Given the description of an element on the screen output the (x, y) to click on. 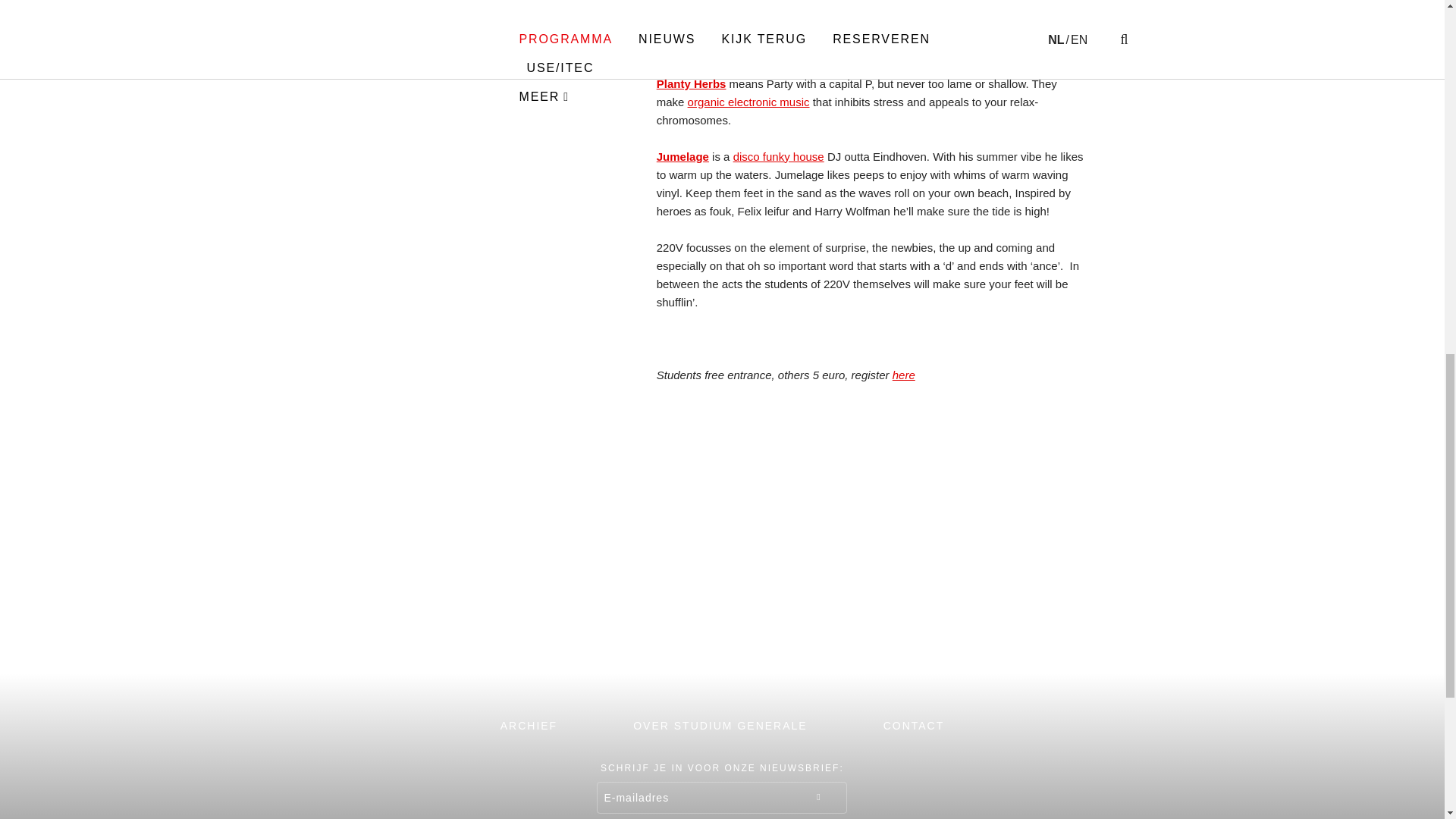
Planty Herbs (691, 83)
disco funky house (778, 155)
PROGRAMMA (369, 664)
OVER STUDIUM GENERALE (719, 725)
NIEUWS (545, 664)
here (903, 374)
KIJK TERUG (721, 664)
Jumelage (682, 155)
ARCHIEF (528, 725)
organic electronic music (748, 101)
CONTACT (913, 725)
RESERVEREN (898, 664)
